Given the description of an element on the screen output the (x, y) to click on. 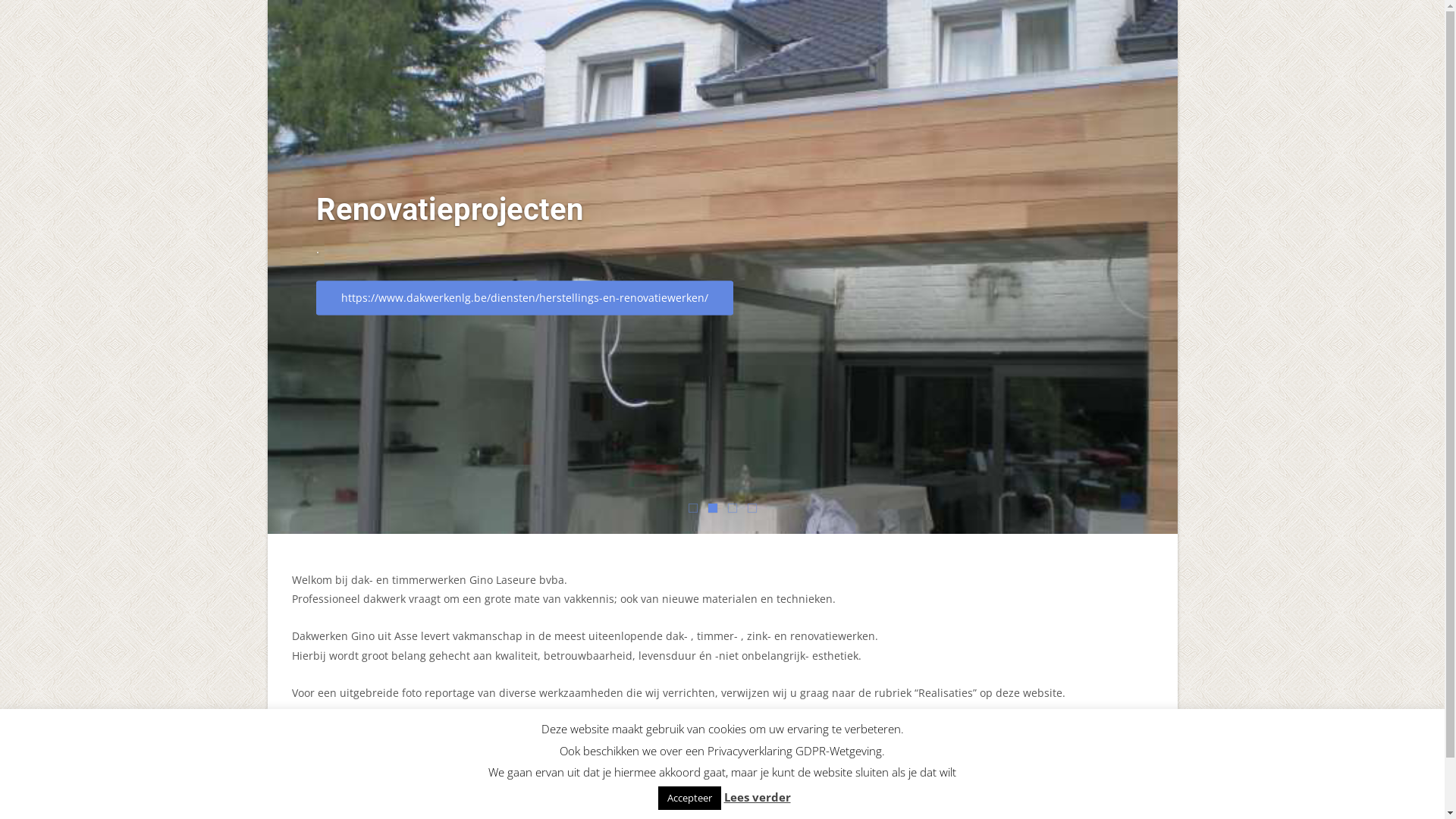
Lees verder Element type: text (756, 796)
Accepteer Element type: text (689, 797)
